Given the description of an element on the screen output the (x, y) to click on. 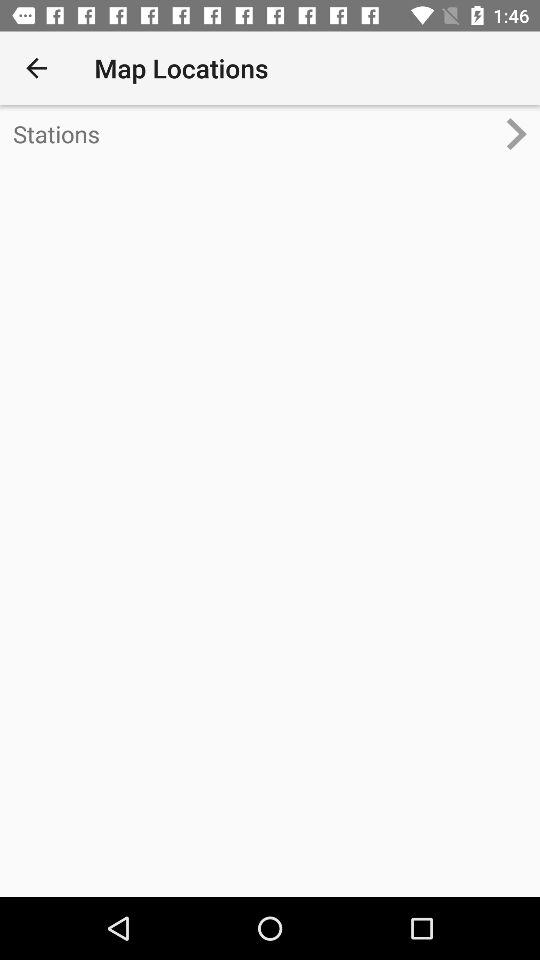
choose icon at the top left corner (36, 68)
